Given the description of an element on the screen output the (x, y) to click on. 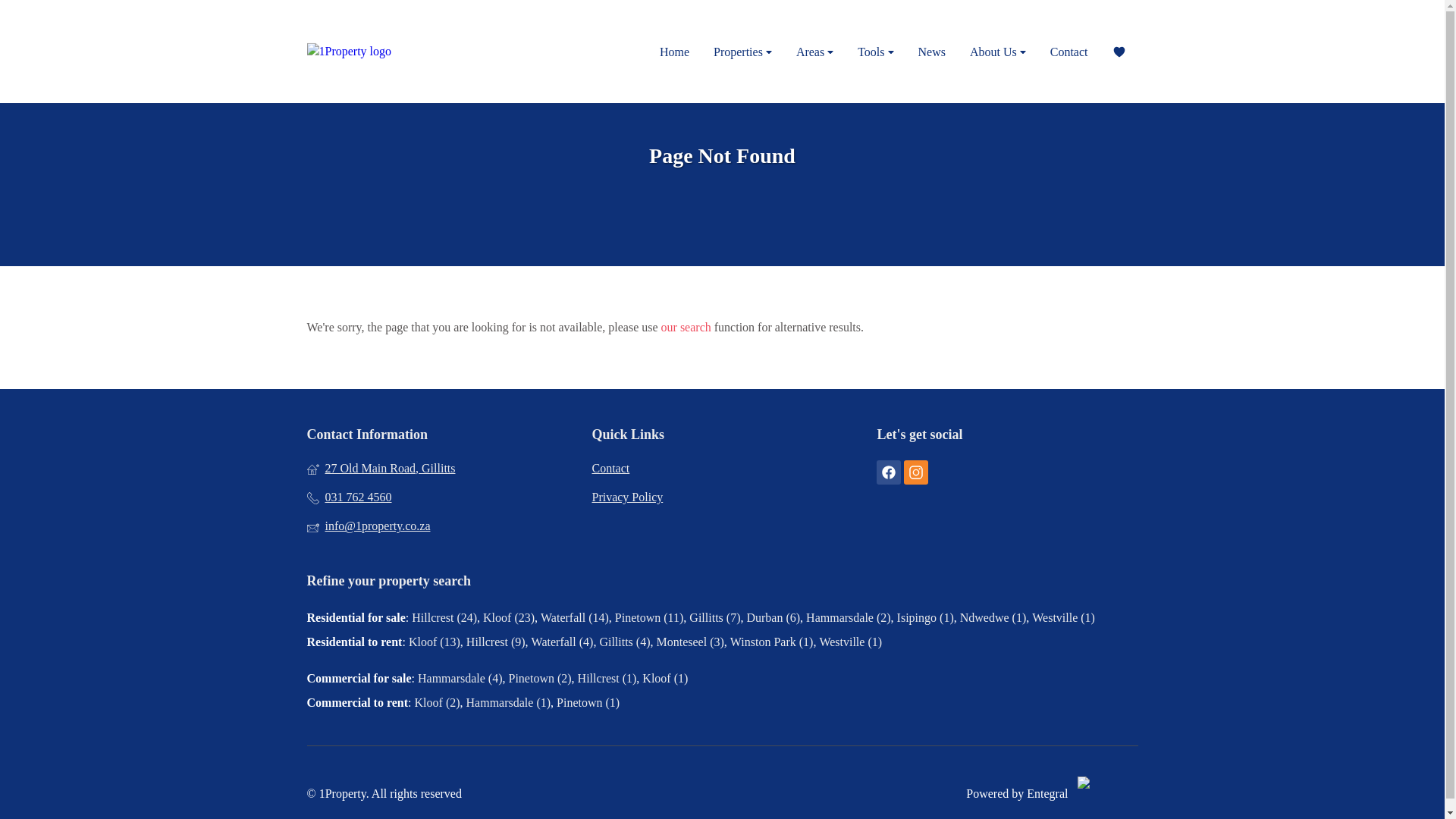
News (931, 51)
Residential, commercial property for sale Upper Highway (442, 51)
Favourites (1118, 51)
1Property facebook page (888, 472)
1Property instagram page (916, 472)
031 762 4560 (436, 497)
our search (686, 327)
Privacy Policy (721, 497)
Home (674, 51)
Contact (721, 468)
Favourites (1118, 51)
27 Old Main Road, Gillitts (436, 468)
Contact (1069, 51)
